Given the description of an element on the screen output the (x, y) to click on. 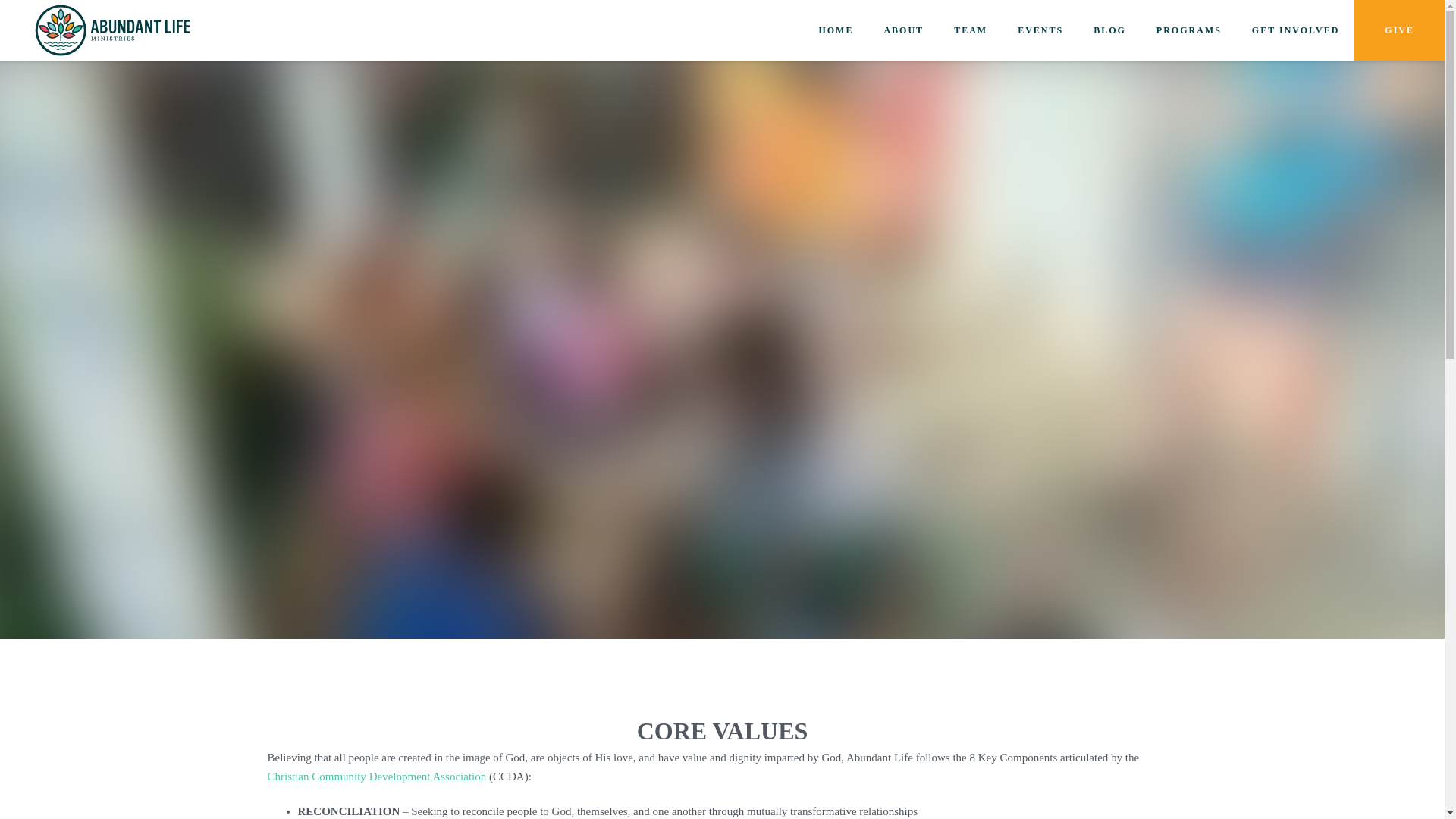
EVENTS (1039, 30)
PROGRAMS (1188, 30)
Christian Community Development Association (376, 776)
ABOUT (903, 30)
TEAM (970, 30)
GET INVOLVED (1295, 30)
HOME (835, 30)
BLOG (1109, 30)
GIVE (1398, 30)
